Given the description of an element on the screen output the (x, y) to click on. 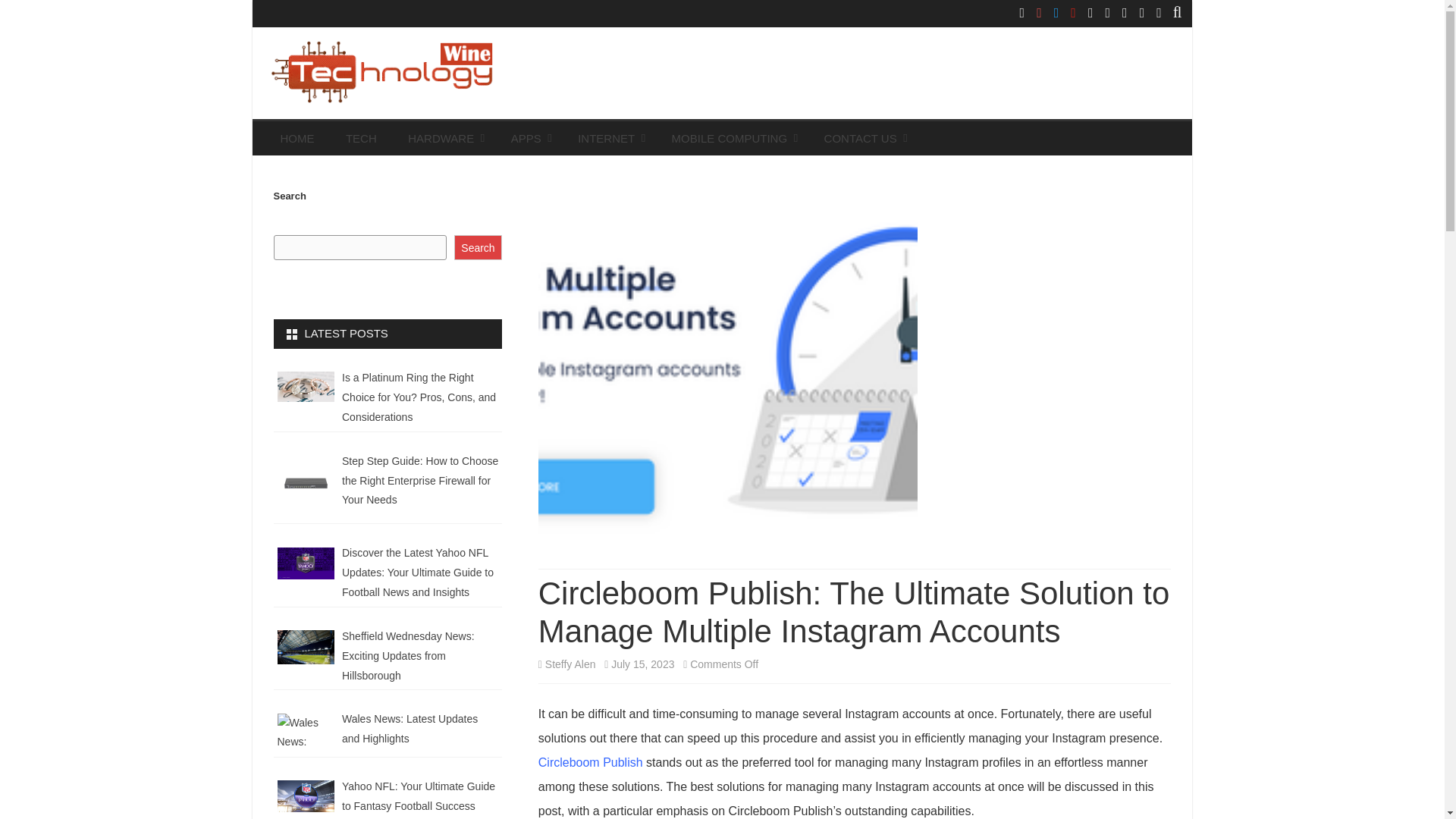
Wales News: Latest Updates and Highlights (306, 729)
Cart (1142, 11)
Technology Wine (376, 121)
Face Book (1022, 11)
Platinum Rings (306, 386)
HARDWARE (443, 138)
TECH (361, 138)
Technology Wine (376, 121)
Instagram (1038, 11)
My Orders (1158, 11)
Yelp (1091, 11)
You Tube (1073, 11)
